Given the description of an element on the screen output the (x, y) to click on. 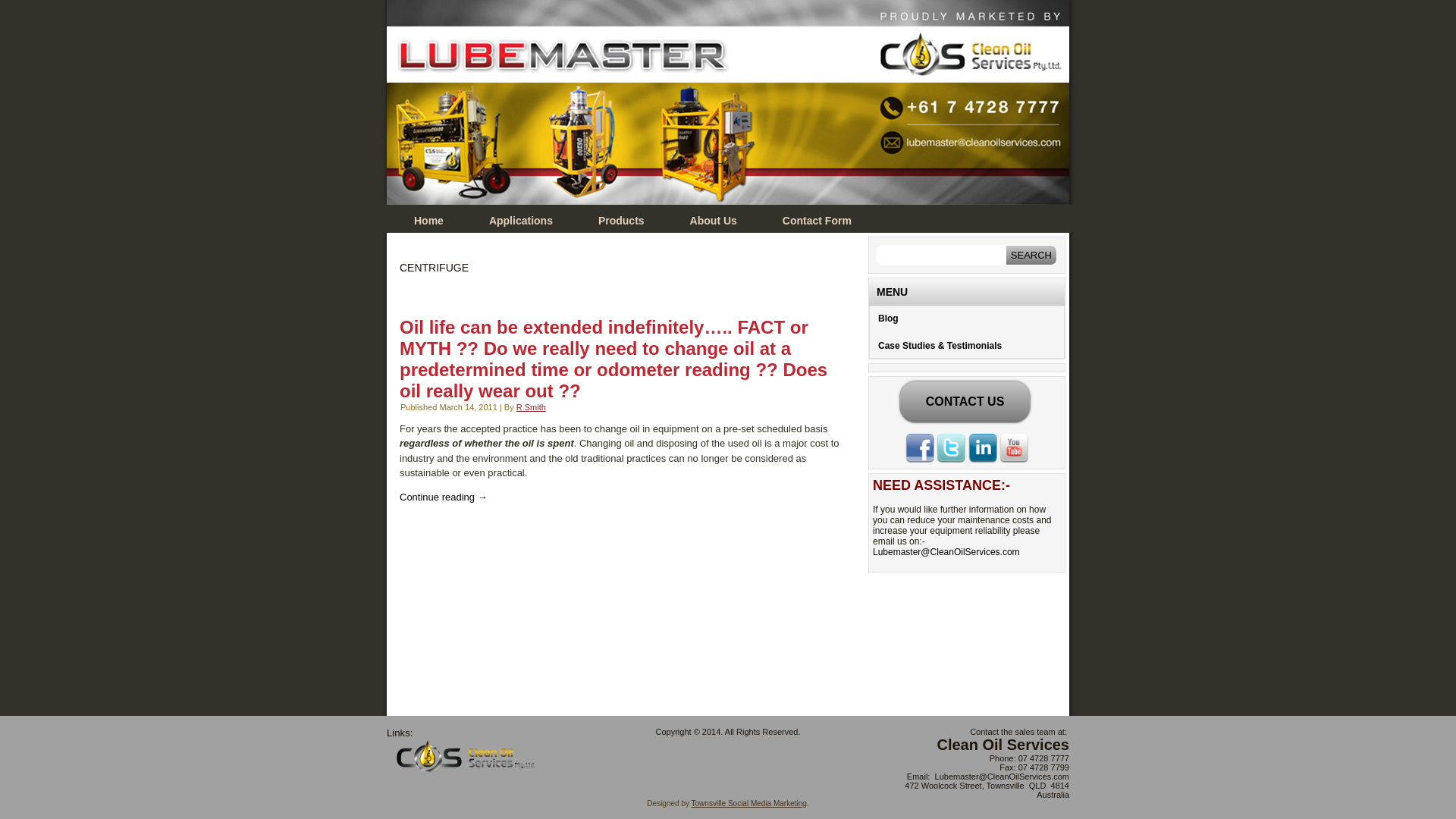
Townsville Social Media Marketing Element type: text (748, 803)
Lubemaster@CleanOilServices.com Element type: text (945, 551)
R Smith Element type: text (531, 406)
Case Studies & Testimonials Element type: text (966, 345)
Products Element type: text (621, 220)
Contact Form Element type: text (817, 220)
CONTACT US Element type: text (965, 401)
About Us Element type: text (713, 220)
Home Element type: text (428, 220)
Search Element type: text (1031, 254)
Blog Element type: text (966, 318)
Applications Element type: text (520, 220)
